Given the description of an element on the screen output the (x, y) to click on. 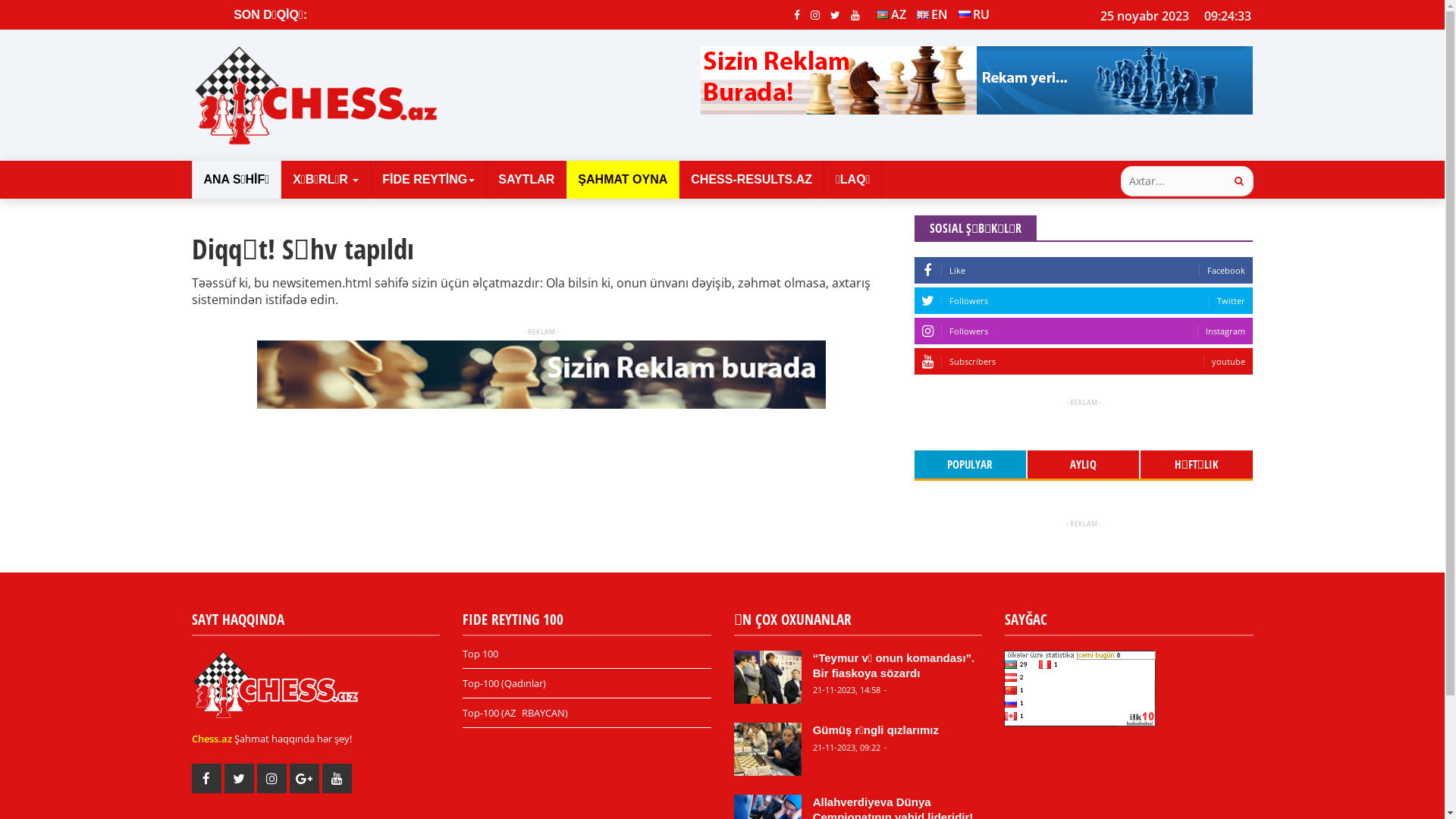
CHESS-RESULTS.AZ Element type: text (751, 179)
EN Element type: text (931, 14)
Top 100 Element type: text (586, 657)
POPULYAR Element type: text (970, 464)
Twitter Element type: hover (835, 14)
SAYTLAR Element type: text (526, 179)
Instagram Element type: hover (814, 14)
AZ Element type: text (891, 14)
RU Element type: text (973, 14)
Facebook Element type: hover (796, 14)
Youtube Element type: hover (854, 14)
AYLIQ Element type: text (1083, 464)
